Given the description of an element on the screen output the (x, y) to click on. 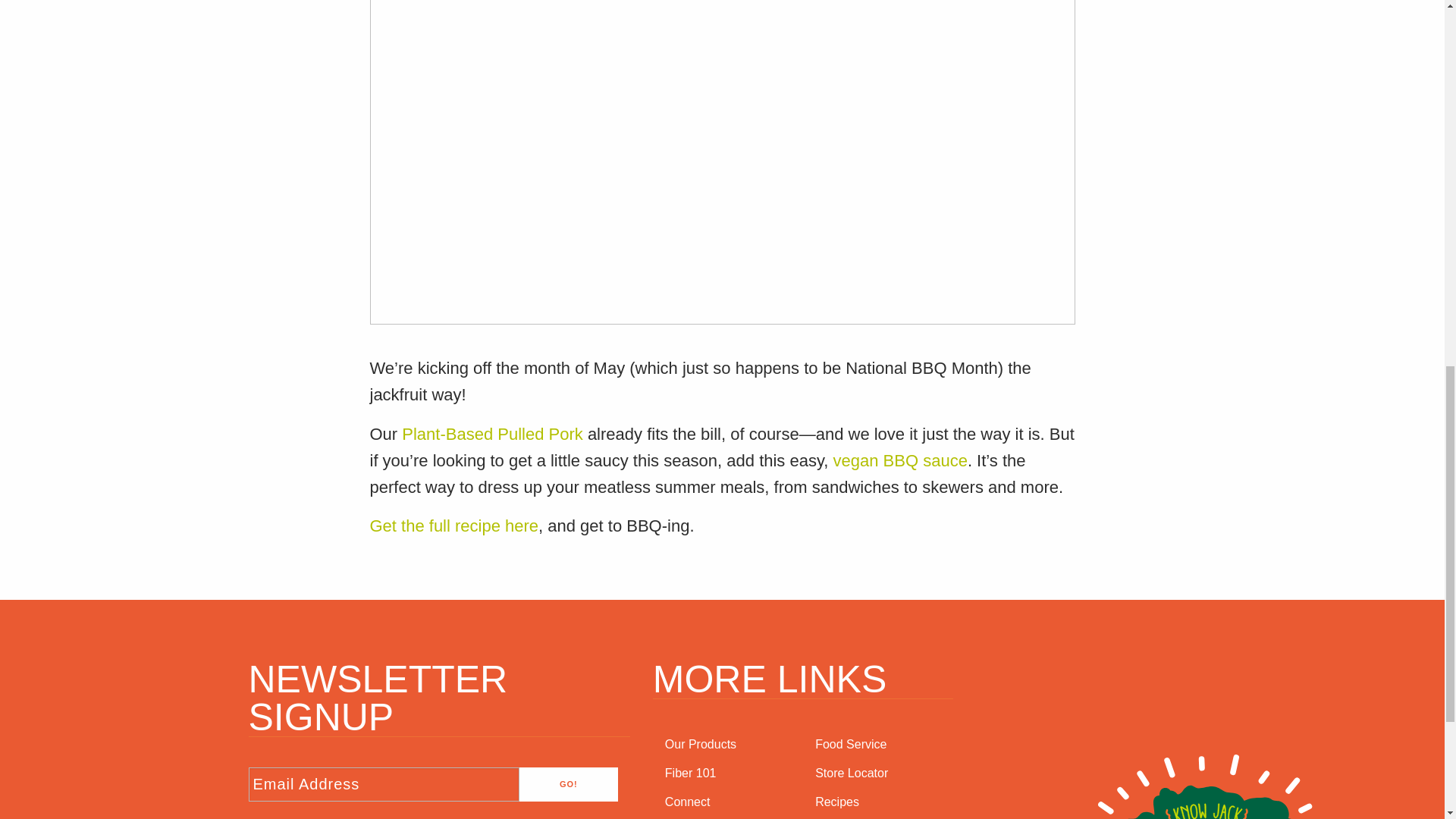
GO! (568, 784)
